Given the description of an element on the screen output the (x, y) to click on. 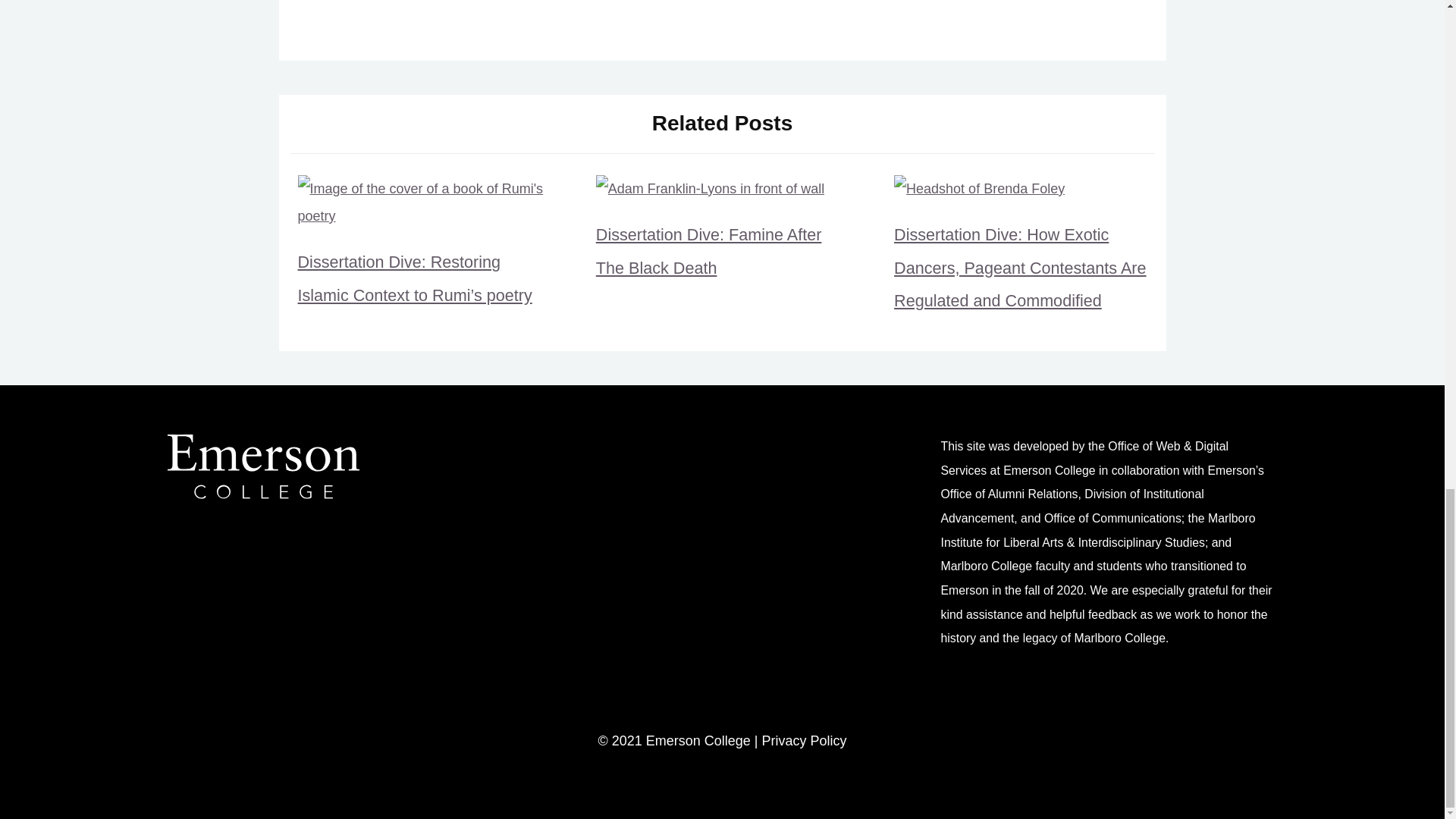
Privacy Policy (804, 740)
Dissertation Dive: Famine After The Black Death (708, 250)
Emerson College (262, 494)
